Given the description of an element on the screen output the (x, y) to click on. 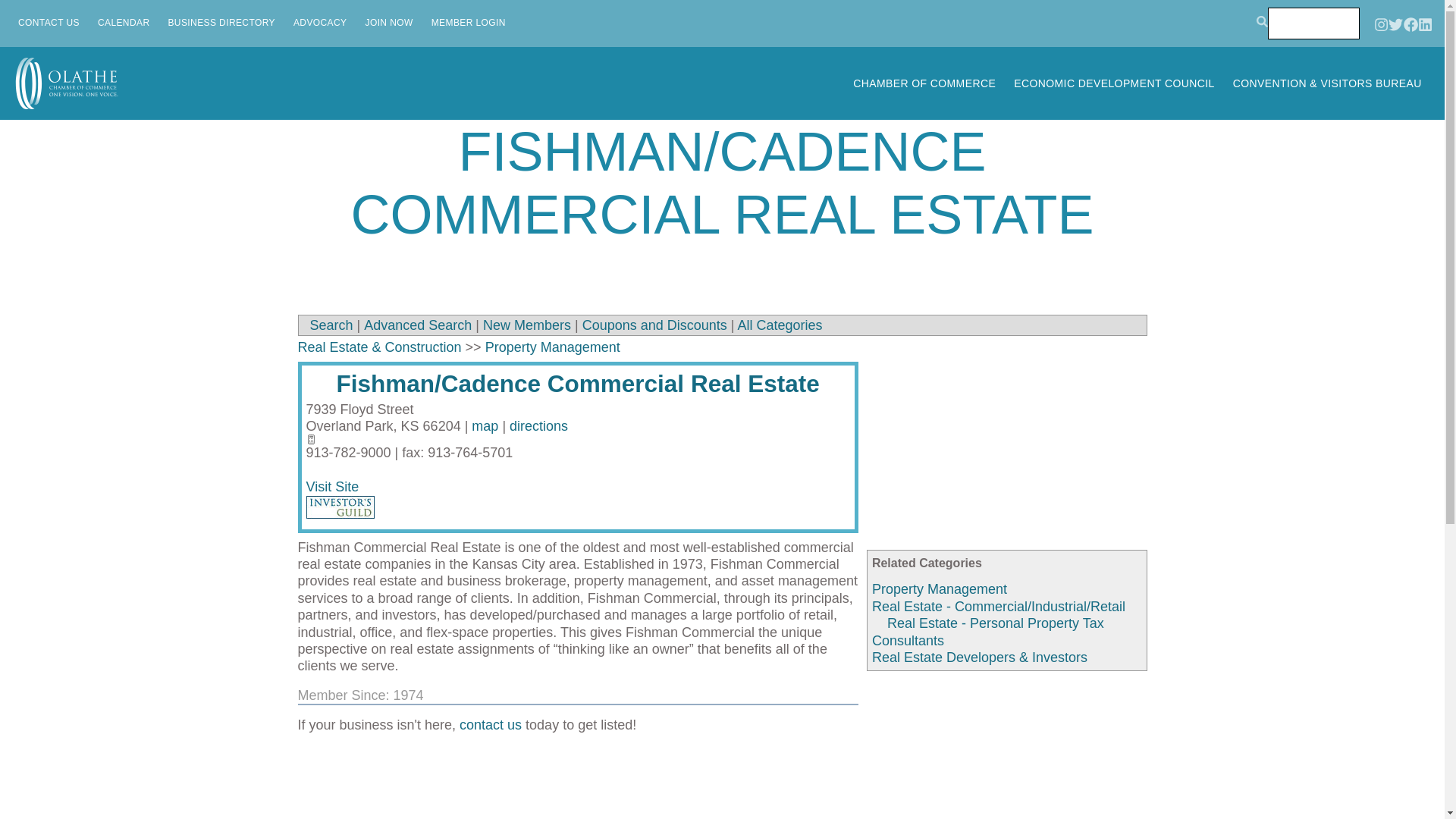
CHAMBER OF COMMERCE (924, 83)
CONTACT US (48, 22)
Investor's Guild Member (339, 507)
ECONOMIC DEVELOPMENT COUNCIL (1114, 83)
MEMBER LOGIN (468, 22)
ADVOCACY (319, 22)
JOIN NOW (389, 22)
BUSINESS DIRECTORY (221, 22)
CALENDAR (123, 22)
